Given the description of an element on the screen output the (x, y) to click on. 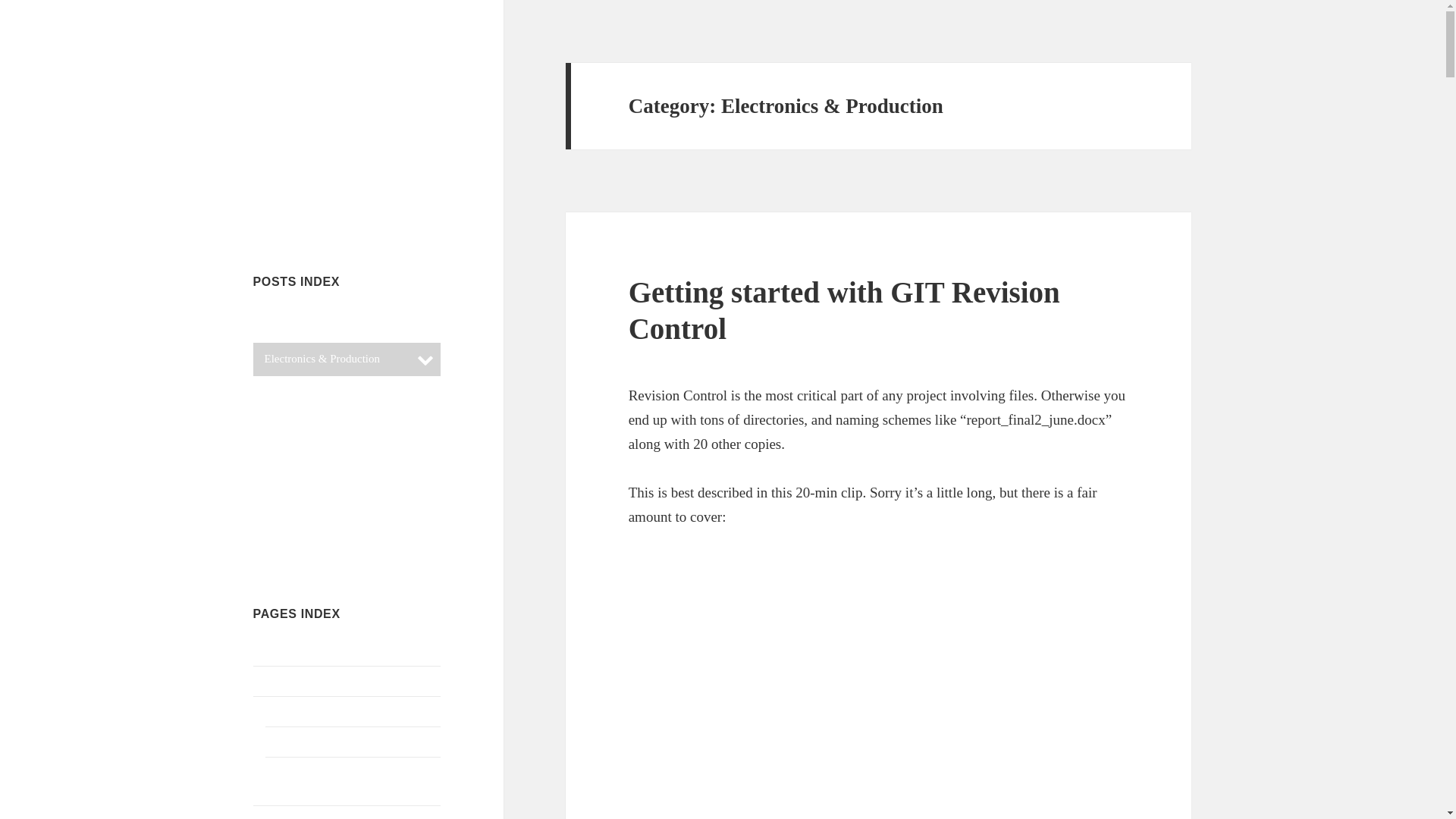
Colin O'Flynn (319, 74)
Twitter (271, 209)
YouTube (307, 209)
Circuit Cellar Articles (331, 326)
